Given the description of an element on the screen output the (x, y) to click on. 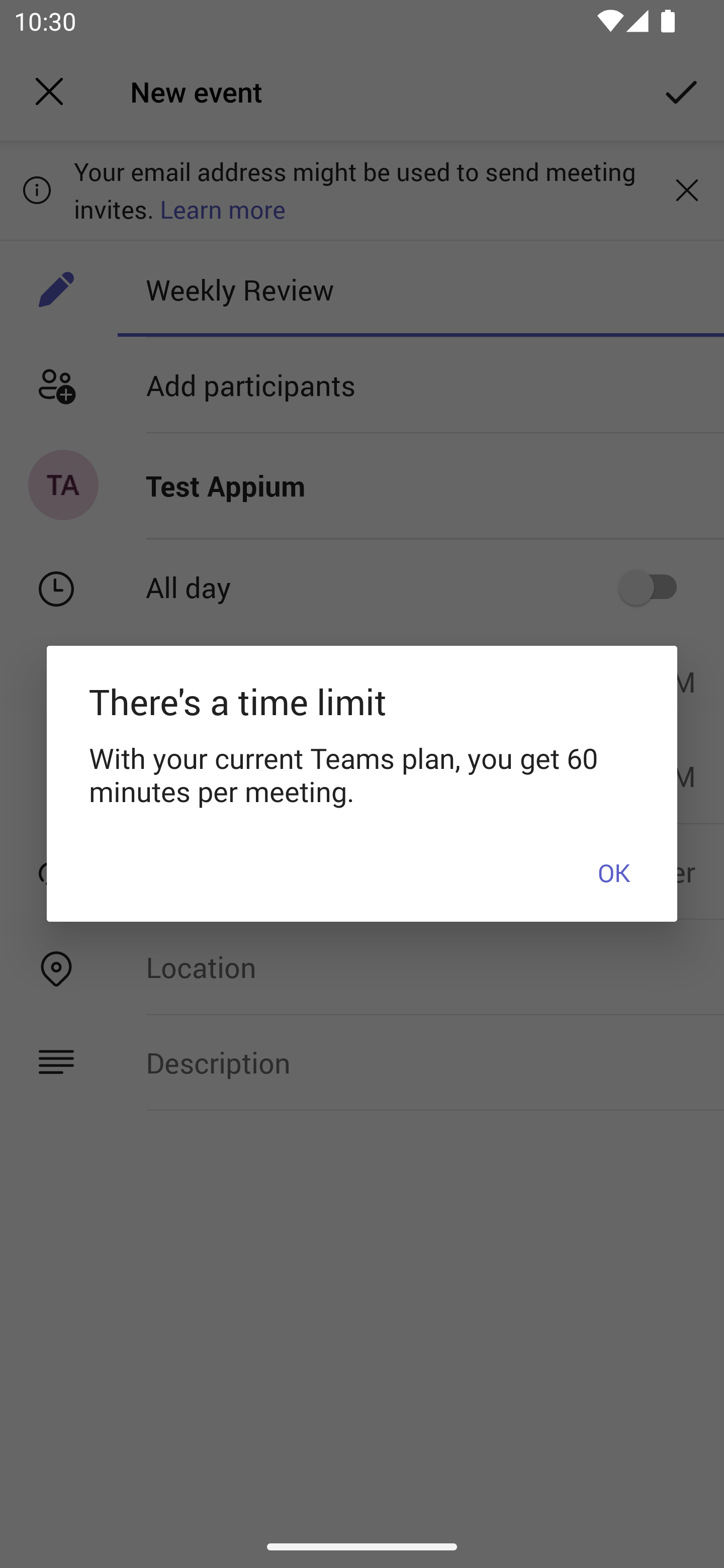
OK (613, 871)
